Given the description of an element on the screen output the (x, y) to click on. 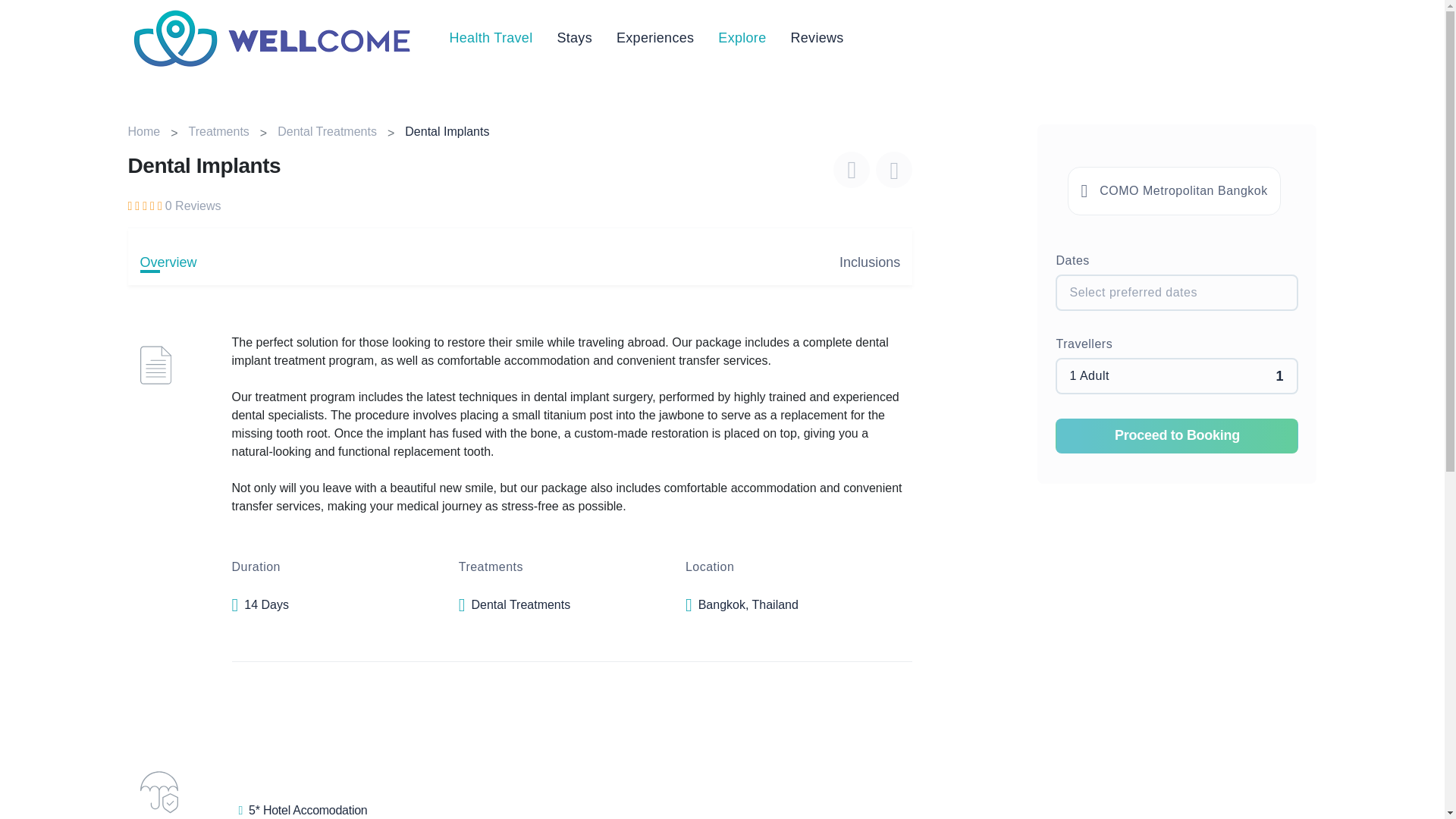
Treatments (218, 131)
1 Adult (1176, 375)
Reviews (816, 37)
Stays (574, 37)
Explore (741, 37)
COMO Metropolitan Bangkok (1173, 191)
Experiences (655, 37)
Dental Treatments (327, 131)
Health Travel (490, 37)
Home (144, 131)
